Given the description of an element on the screen output the (x, y) to click on. 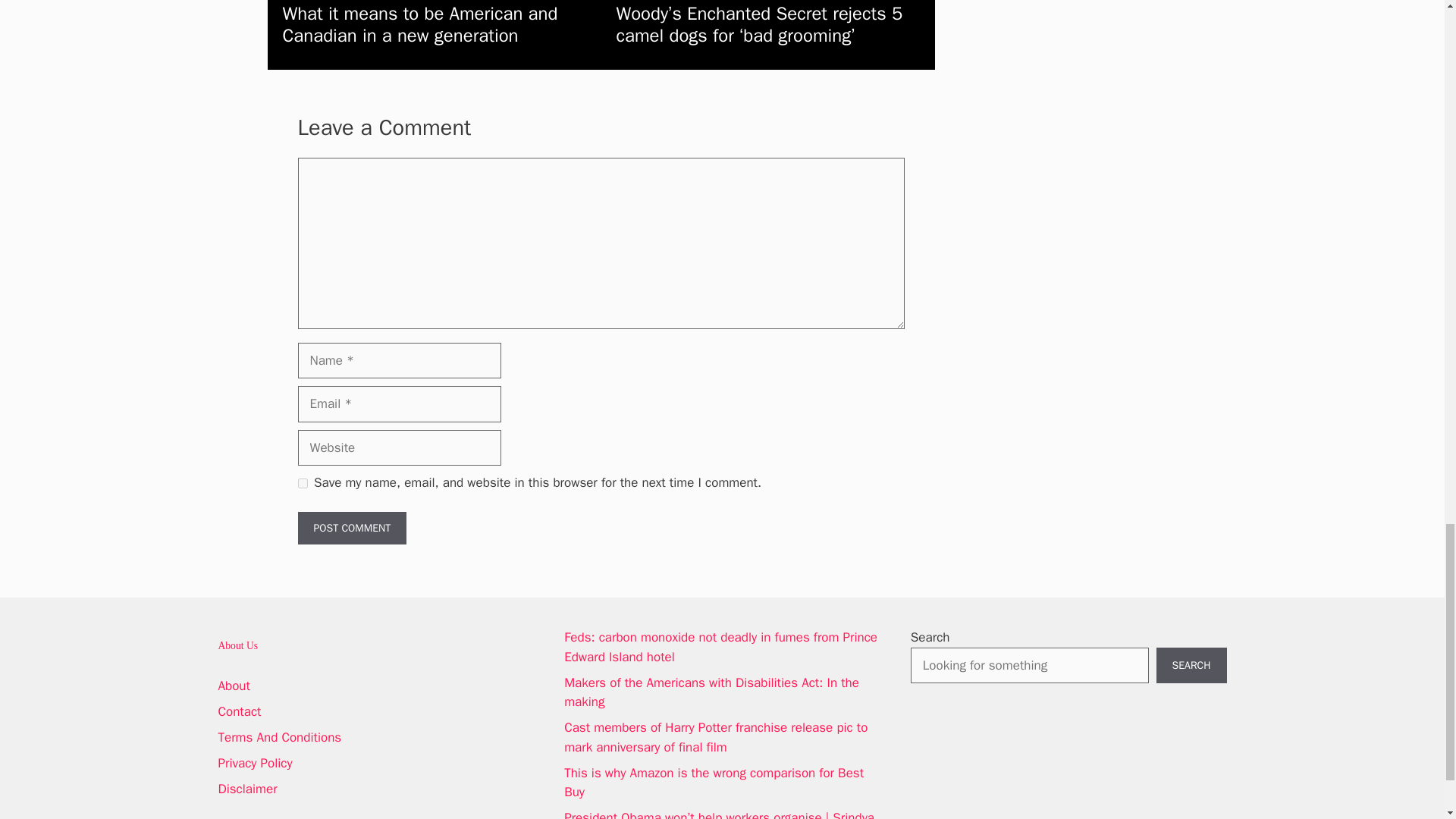
Post Comment (351, 527)
Privacy Policy (255, 763)
yes (302, 483)
Post Comment (351, 527)
About (234, 685)
Contact (240, 711)
Terms And Conditions (280, 737)
